Given the description of an element on the screen output the (x, y) to click on. 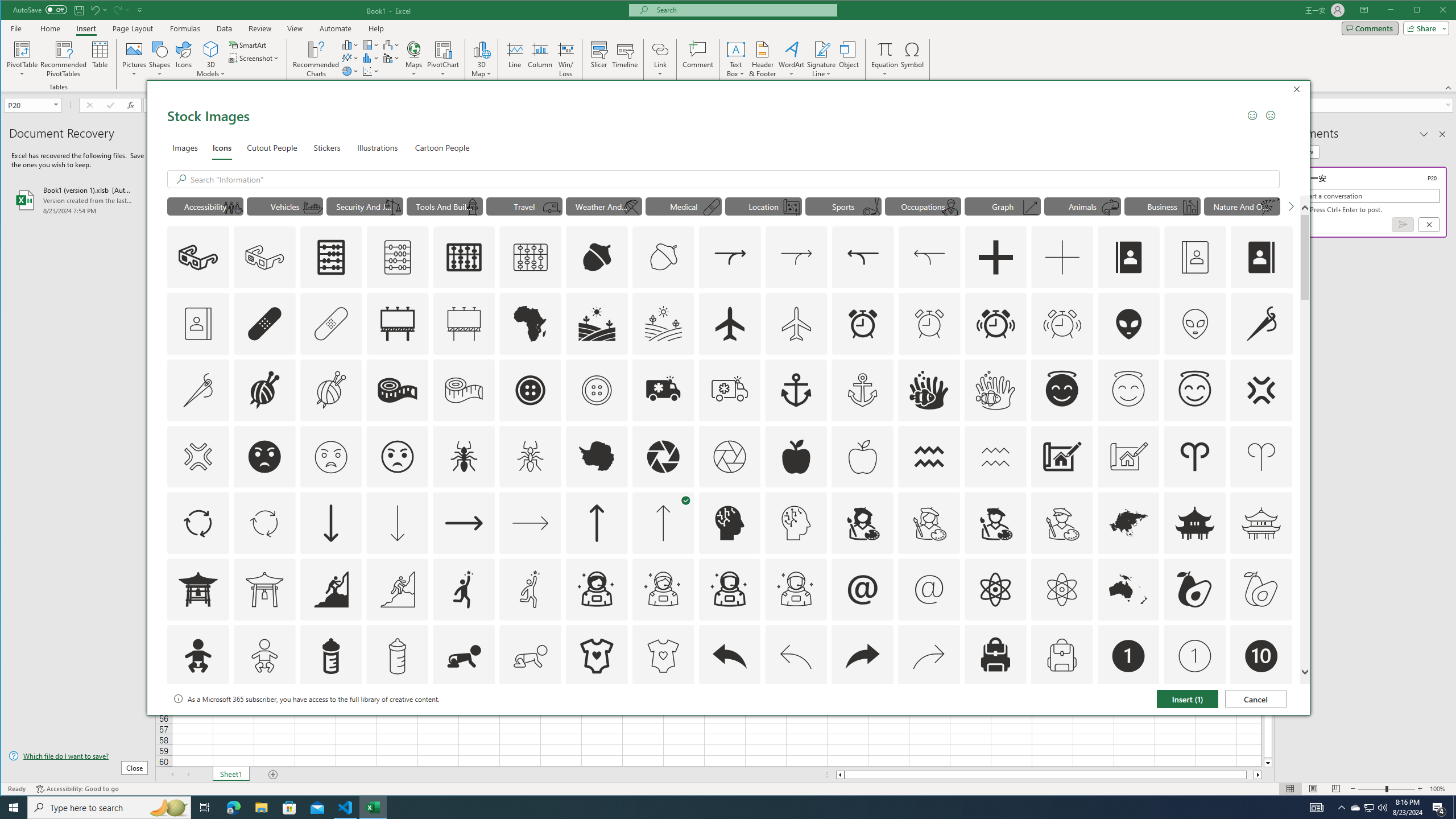
Line (514, 59)
Show desktop (1454, 807)
AutomationID: Icons_Back_RTL_M (928, 655)
AutomationID: Icons_Backpack_M (1061, 655)
AutomationID: Icons_Badge9 (1194, 721)
